Given the description of an element on the screen output the (x, y) to click on. 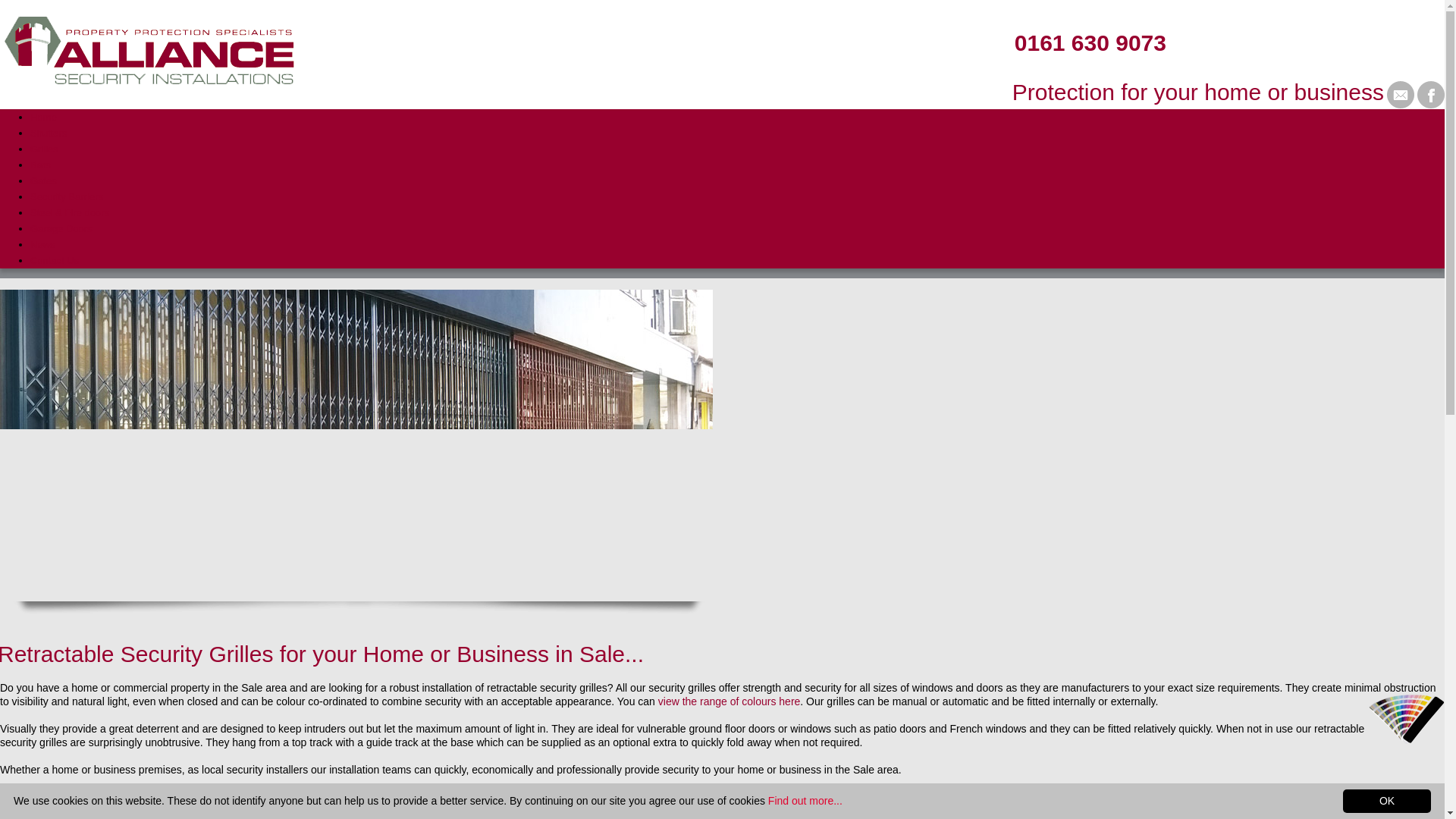
Contact Us (54, 260)
Gates (43, 180)
Shutters (48, 132)
Bars (40, 164)
view the range of colours here (729, 701)
Home (43, 116)
Security Barriers (66, 196)
News (42, 244)
Garage Doors (61, 228)
Grilles (44, 148)
